Given the description of an element on the screen output the (x, y) to click on. 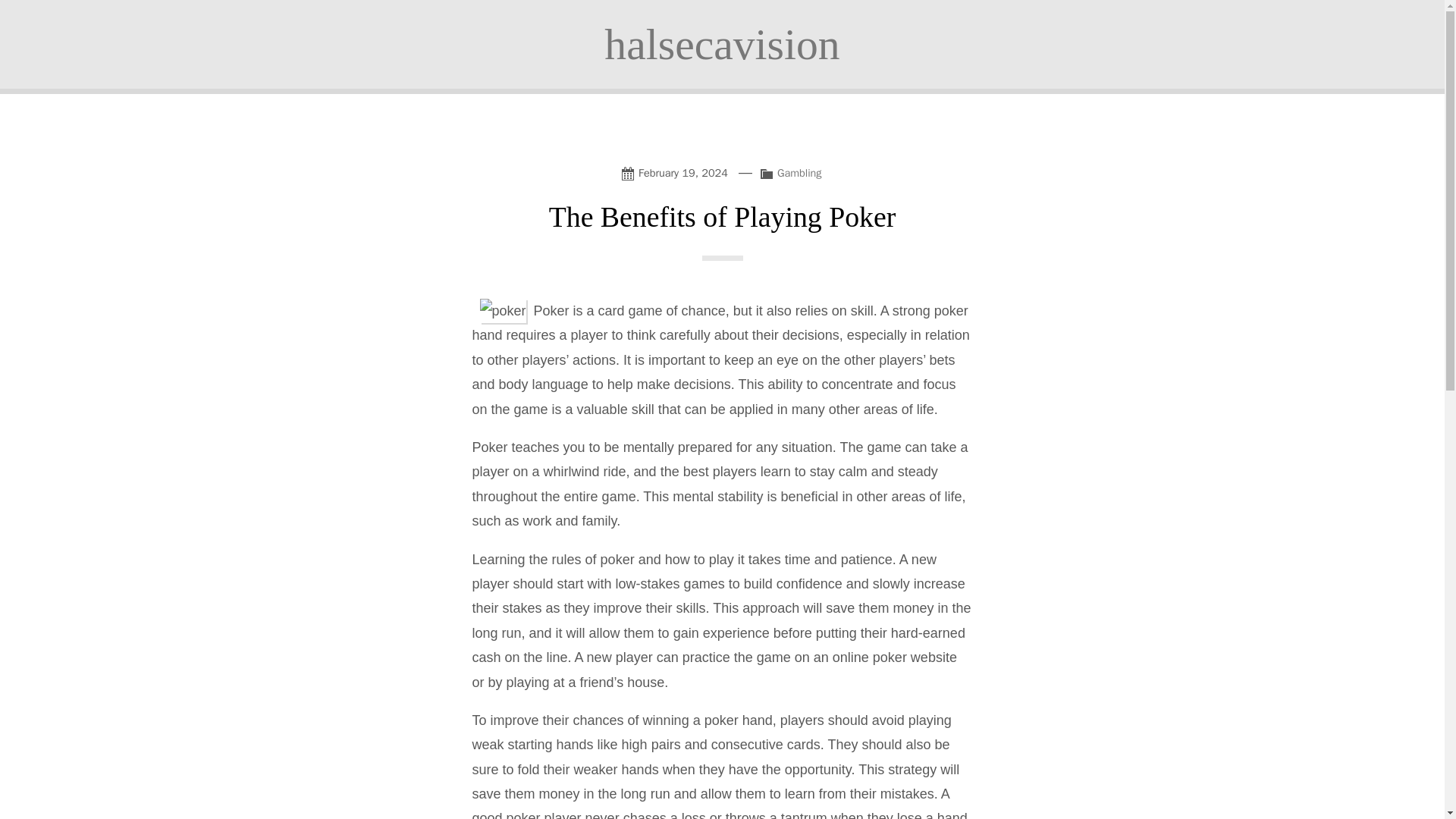
halsecavision (722, 43)
Gambling (799, 172)
